Given the description of an element on the screen output the (x, y) to click on. 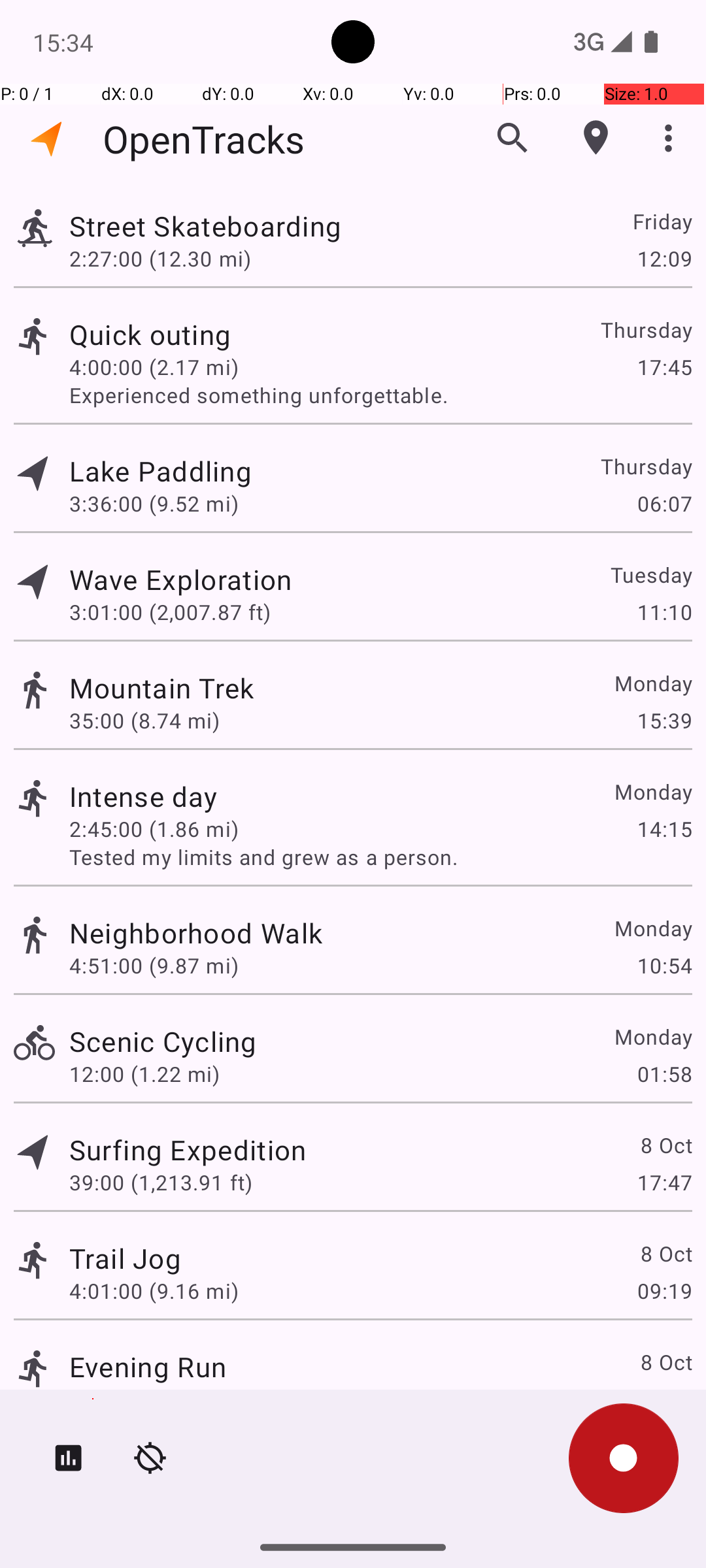
Street Skateboarding Element type: android.widget.TextView (204, 225)
2:27:00 (12.30 mi) Element type: android.widget.TextView (159, 258)
12:09 Element type: android.widget.TextView (664, 258)
Quick outing Element type: android.widget.TextView (149, 333)
4:00:00 (2.17 mi) Element type: android.widget.TextView (153, 366)
17:45 Element type: android.widget.TextView (664, 366)
Experienced something unforgettable. Element type: android.widget.TextView (380, 394)
Lake Paddling Element type: android.widget.TextView (160, 470)
3:36:00 (9.52 mi) Element type: android.widget.TextView (153, 503)
06:07 Element type: android.widget.TextView (664, 503)
Wave Exploration Element type: android.widget.TextView (180, 578)
3:01:00 (2,007.87 ft) Element type: android.widget.TextView (169, 611)
11:10 Element type: android.widget.TextView (664, 611)
Mountain Trek Element type: android.widget.TextView (161, 687)
35:00 (8.74 mi) Element type: android.widget.TextView (144, 720)
15:39 Element type: android.widget.TextView (664, 720)
Intense day Element type: android.widget.TextView (143, 795)
2:45:00 (1.86 mi) Element type: android.widget.TextView (153, 828)
14:15 Element type: android.widget.TextView (664, 828)
Tested my limits and grew as a person. Element type: android.widget.TextView (380, 856)
Neighborhood Walk Element type: android.widget.TextView (195, 932)
4:51:00 (9.87 mi) Element type: android.widget.TextView (153, 965)
10:54 Element type: android.widget.TextView (664, 965)
12:00 (1.22 mi) Element type: android.widget.TextView (144, 1073)
01:58 Element type: android.widget.TextView (664, 1073)
Surfing Expedition Element type: android.widget.TextView (187, 1149)
39:00 (1,213.91 ft) Element type: android.widget.TextView (160, 1182)
17:47 Element type: android.widget.TextView (664, 1182)
Trail Jog Element type: android.widget.TextView (124, 1257)
4:01:00 (9.16 mi) Element type: android.widget.TextView (153, 1290)
09:19 Element type: android.widget.TextView (664, 1290)
Evening Run Element type: android.widget.TextView (147, 1366)
25:00 (2.46 mi) Element type: android.widget.TextView (144, 1399)
08:45 Element type: android.widget.TextView (664, 1399)
